Given the description of an element on the screen output the (x, y) to click on. 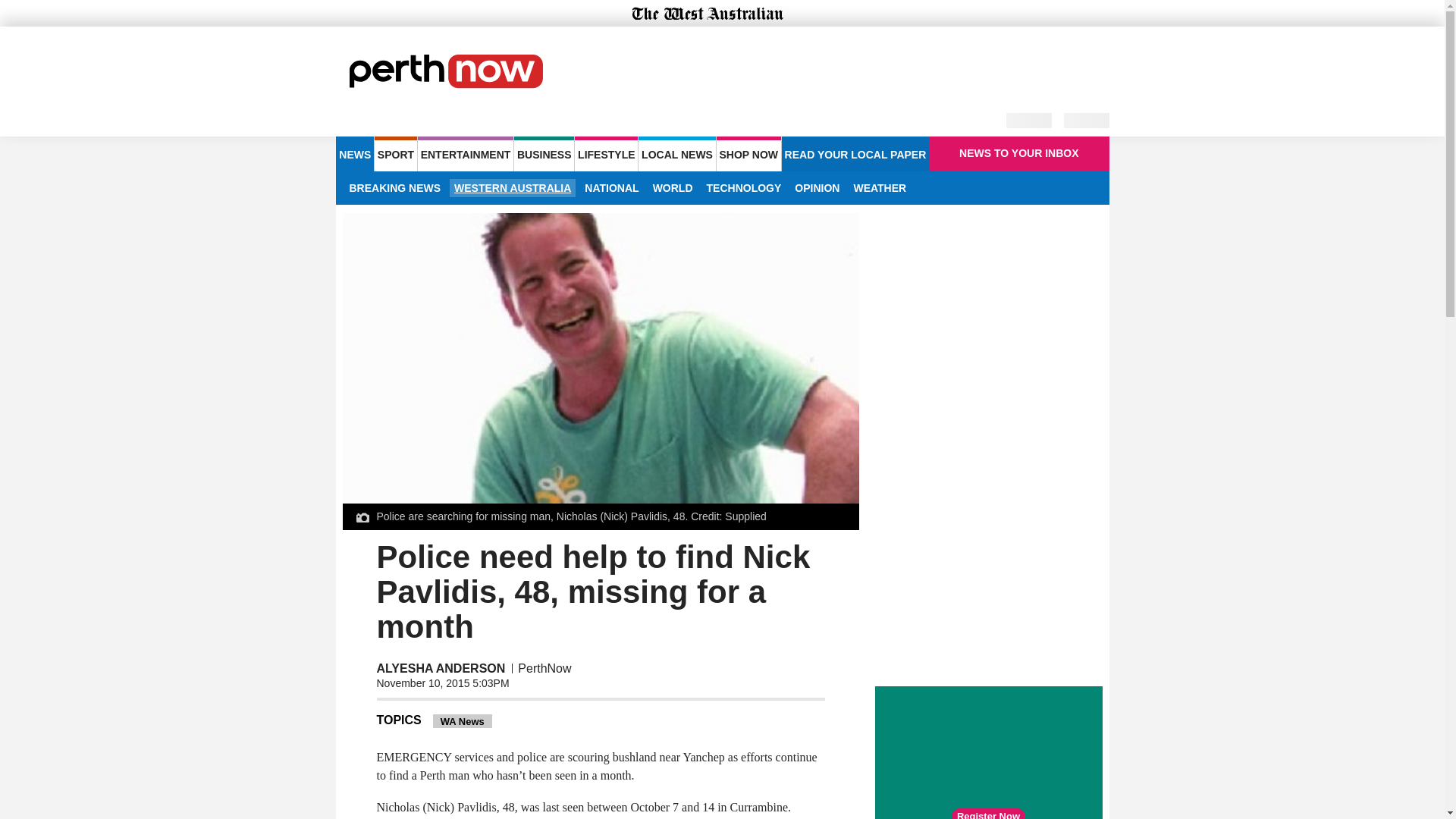
ENTERTAINMENT (465, 153)
BUSINESS (543, 153)
SPORT (395, 153)
NEWS (354, 153)
